Given the description of an element on the screen output the (x, y) to click on. 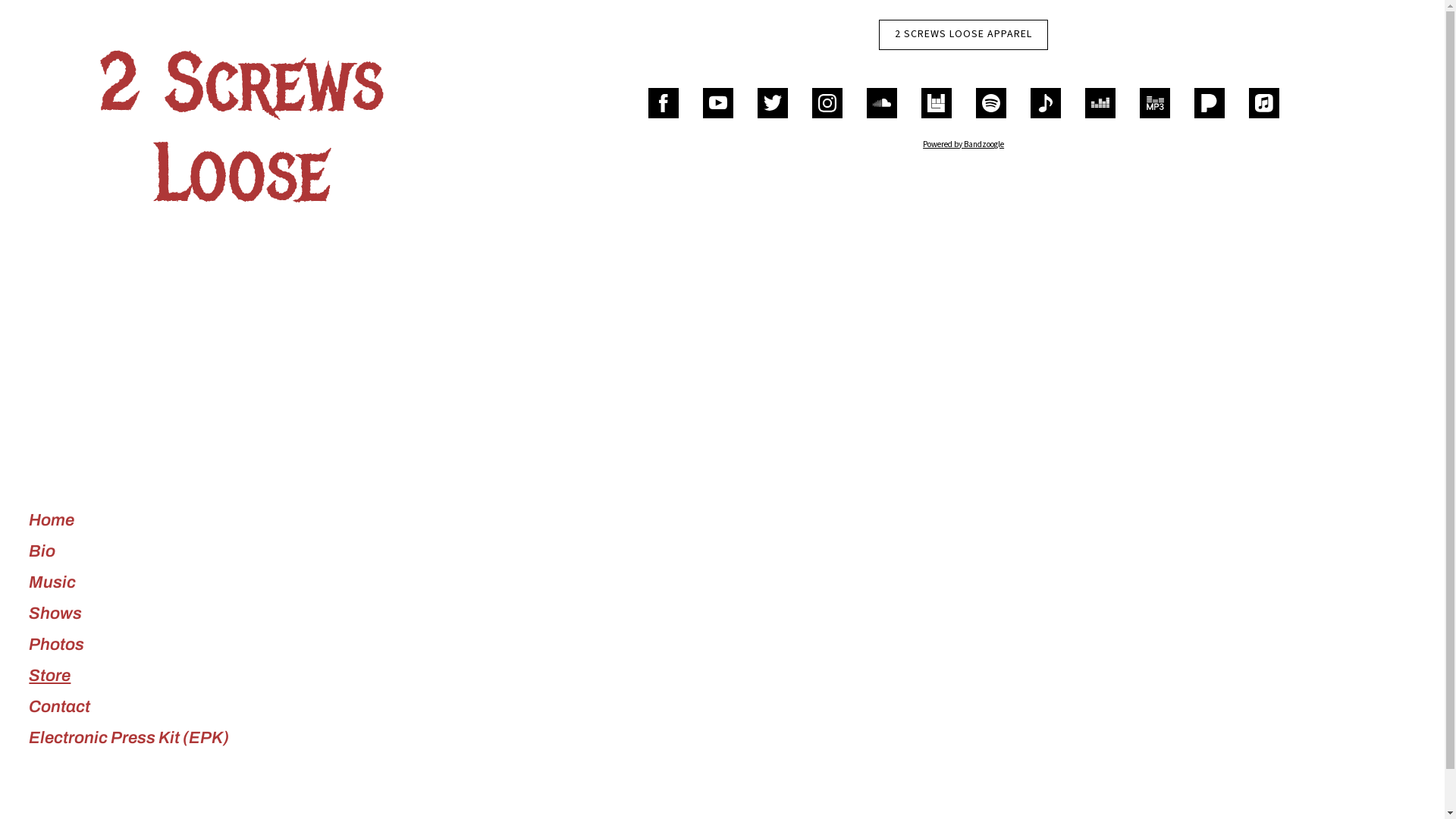
https://2screwsloose.hearnow.com/screw-it-over Element type: hover (1045, 102)
Contact Element type: text (59, 706)
https://www.facebook.com/2.Scr3ws.L00se Element type: hover (663, 102)
Previous track Element type: hover (429, 777)
Music Element type: text (51, 582)
https://instagram.com/2_screws_loose Element type: hover (827, 102)
2 Screws Loose Element type: text (240, 193)
Powered by Bandzoogle Element type: text (963, 144)
Your Price Element type: text (368, 777)
Electronic Press Kit (EPK) Element type: text (128, 737)
https://music.apple.com/us/album/screw-it-over/1611925042 Element type: hover (1263, 102)
Store Element type: text (49, 675)
https://twitter.com/2_Screws_Loose Element type: hover (772, 102)
Bio Element type: text (41, 550)
Next track Element type: hover (446, 777)
2 SCREWS LOOSE APPAREL Element type: text (963, 34)
https://pandora.app.link/nQJbSaHWvyb Element type: hover (1209, 102)
https://soundcloud.com/user-561022051-859853377 Element type: hover (881, 102)
https://deezer.page.link/GUPw4njCfRiQFSX16 Element type: hover (1100, 102)
Shows Element type: text (54, 613)
Photos Element type: text (56, 644)
Play Element type: hover (44, 777)
Home Element type: text (51, 519)
